Given the description of an element on the screen output the (x, y) to click on. 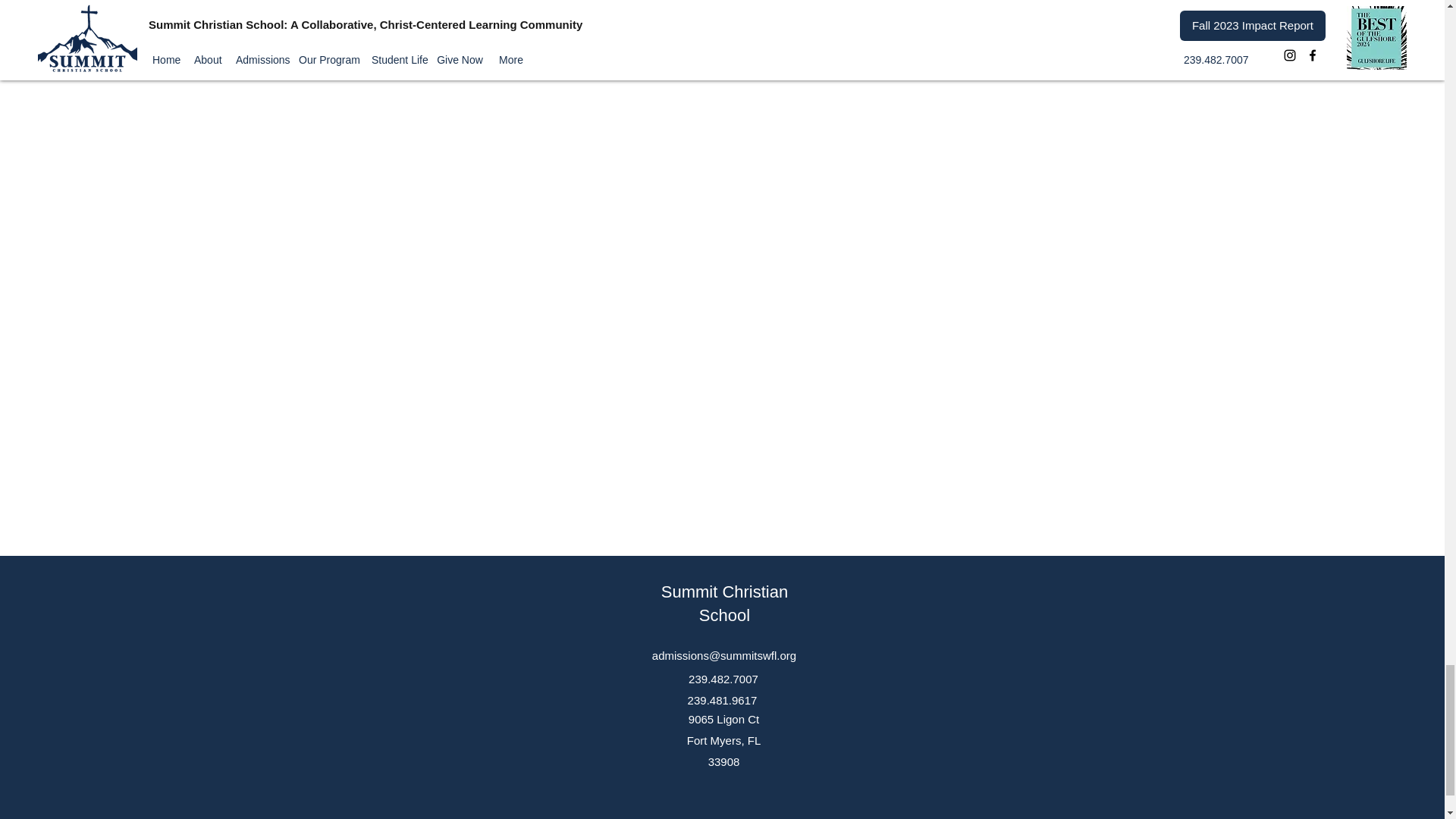
Summit Christian School (724, 603)
